Given the description of an element on the screen output the (x, y) to click on. 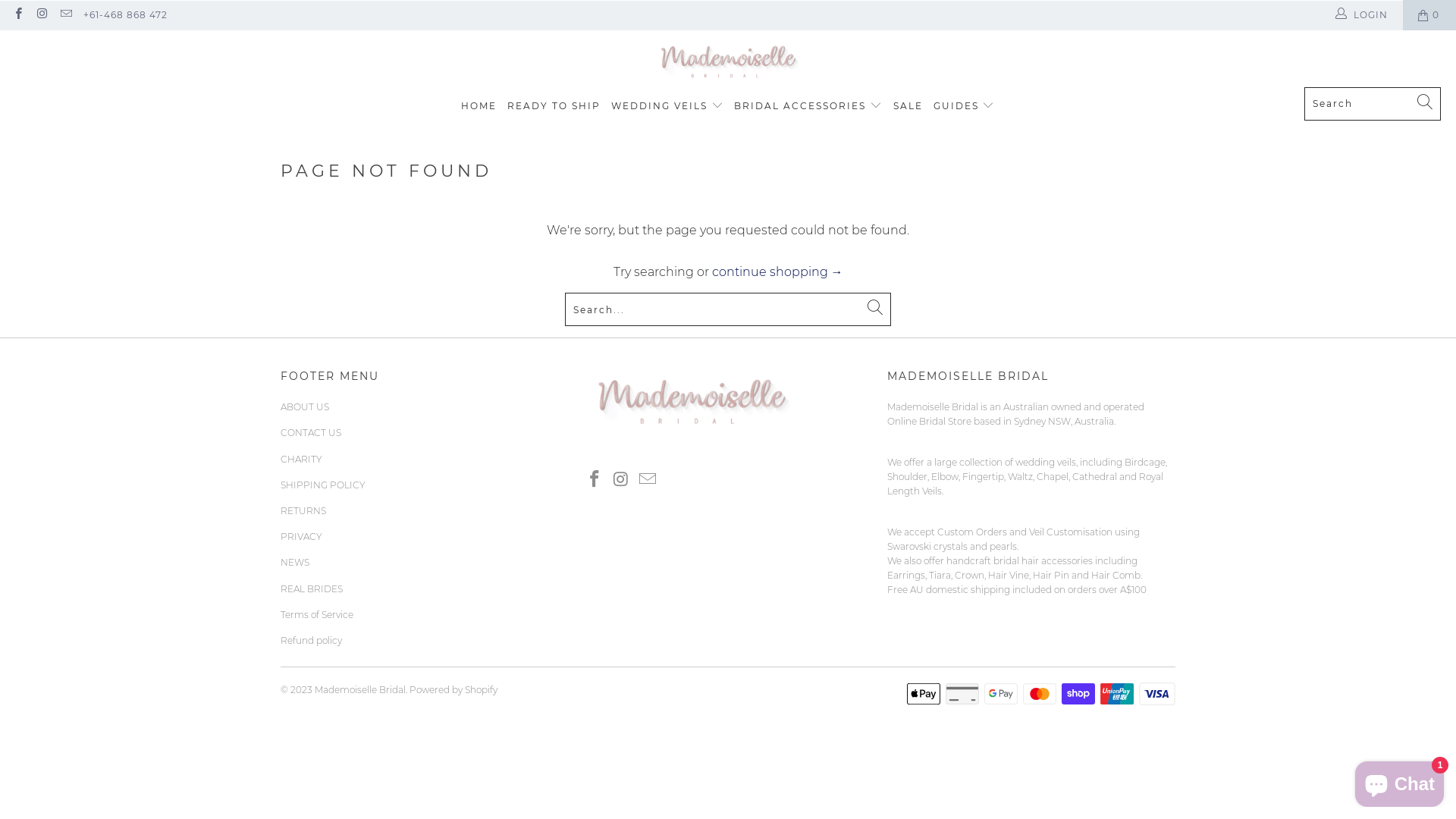
GUIDES Element type: text (963, 105)
Mademoiselle Bridal on Instagram Element type: hover (621, 479)
Terms of Service Element type: text (316, 614)
Powered by Shopify Element type: text (453, 689)
Email Mademoiselle Bridal Element type: hover (65, 14)
Mademoiselle Bridal on Facebook Element type: hover (17, 14)
NEWS Element type: text (294, 561)
CHARITY Element type: text (301, 458)
ABOUT US Element type: text (304, 406)
SALE Element type: text (907, 105)
LOGIN Element type: text (1362, 15)
SHIPPING POLICY Element type: text (322, 484)
RETURNS Element type: text (303, 510)
READY TO SHIP Element type: text (553, 105)
WEDDING VEILS Element type: text (667, 105)
Mademoiselle Bridal on Instagram Element type: hover (40, 14)
REAL BRIDES Element type: text (311, 588)
BRIDAL ACCESSORIES Element type: text (807, 105)
CONTACT US Element type: text (310, 432)
PRIVACY Element type: text (301, 536)
Mademoiselle Bridal Element type: text (359, 689)
Refund policy Element type: text (311, 640)
Mademoiselle Bridal on Facebook Element type: hover (594, 479)
Mademoiselle Bridal Element type: hover (728, 62)
+61-468 868 472 Element type: text (125, 15)
HOME Element type: text (478, 105)
Shopify online store chat Element type: hover (1399, 780)
Email Mademoiselle Bridal Element type: hover (647, 479)
